Given the description of an element on the screen output the (x, y) to click on. 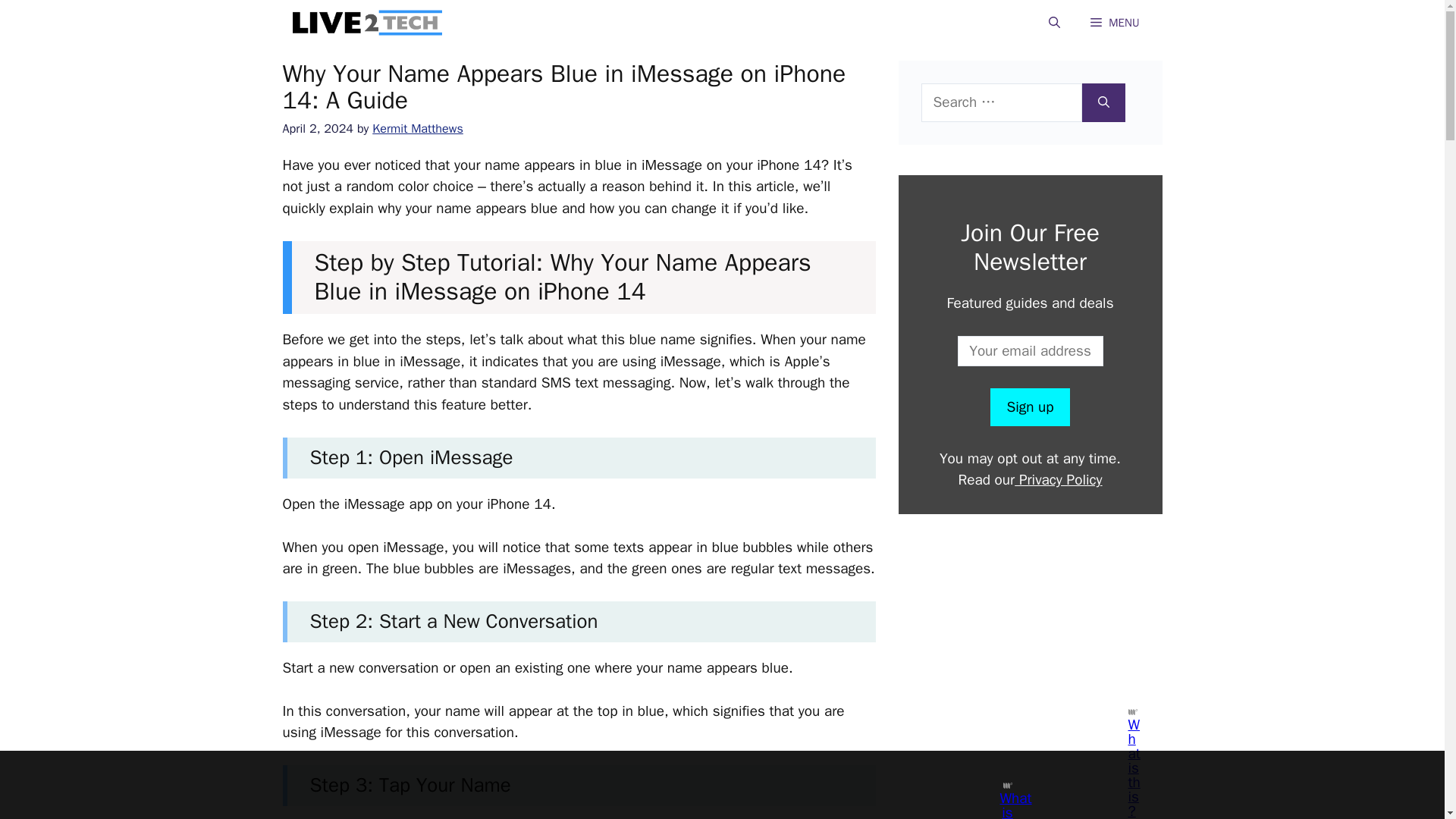
Kermit Matthews (417, 128)
3rd party ad content (1028, 608)
Sign up (1029, 407)
MENU (1114, 22)
3rd party ad content (708, 785)
